Given the description of an element on the screen output the (x, y) to click on. 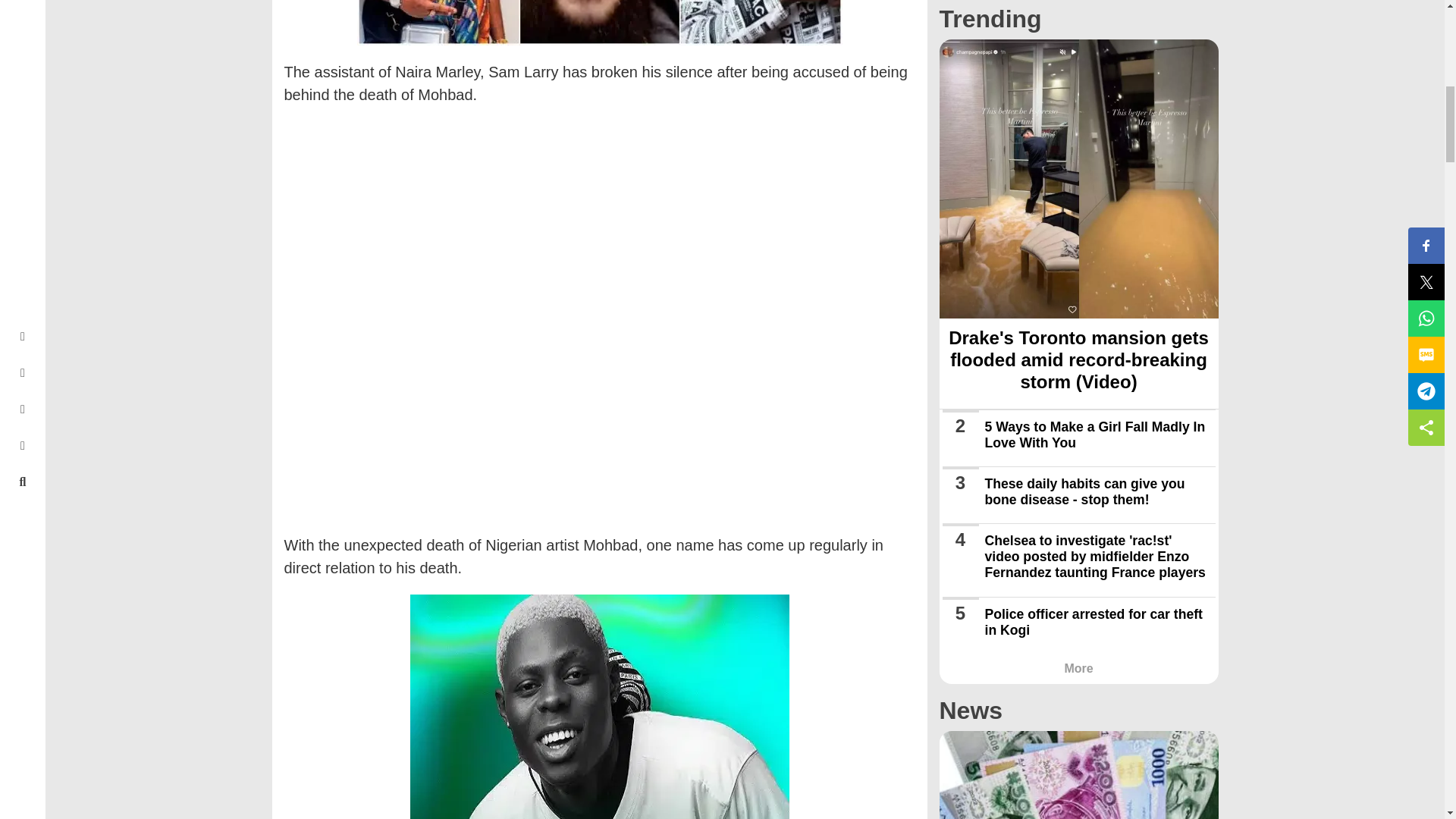
More (1078, 667)
Advertisement (598, 218)
'Don't use me to trend' - Sam Larry speaks from hiding place (599, 706)
5 Ways to Make a Girl Fall Madly In Love With You (1094, 434)
'Don't use me to trend' - Sam Larry speaks from hiding place (598, 22)
Police officer arrested for car theft in Kogi (1093, 622)
These daily habits can give you bone disease - stop them! (1084, 490)
